Given the description of an element on the screen output the (x, y) to click on. 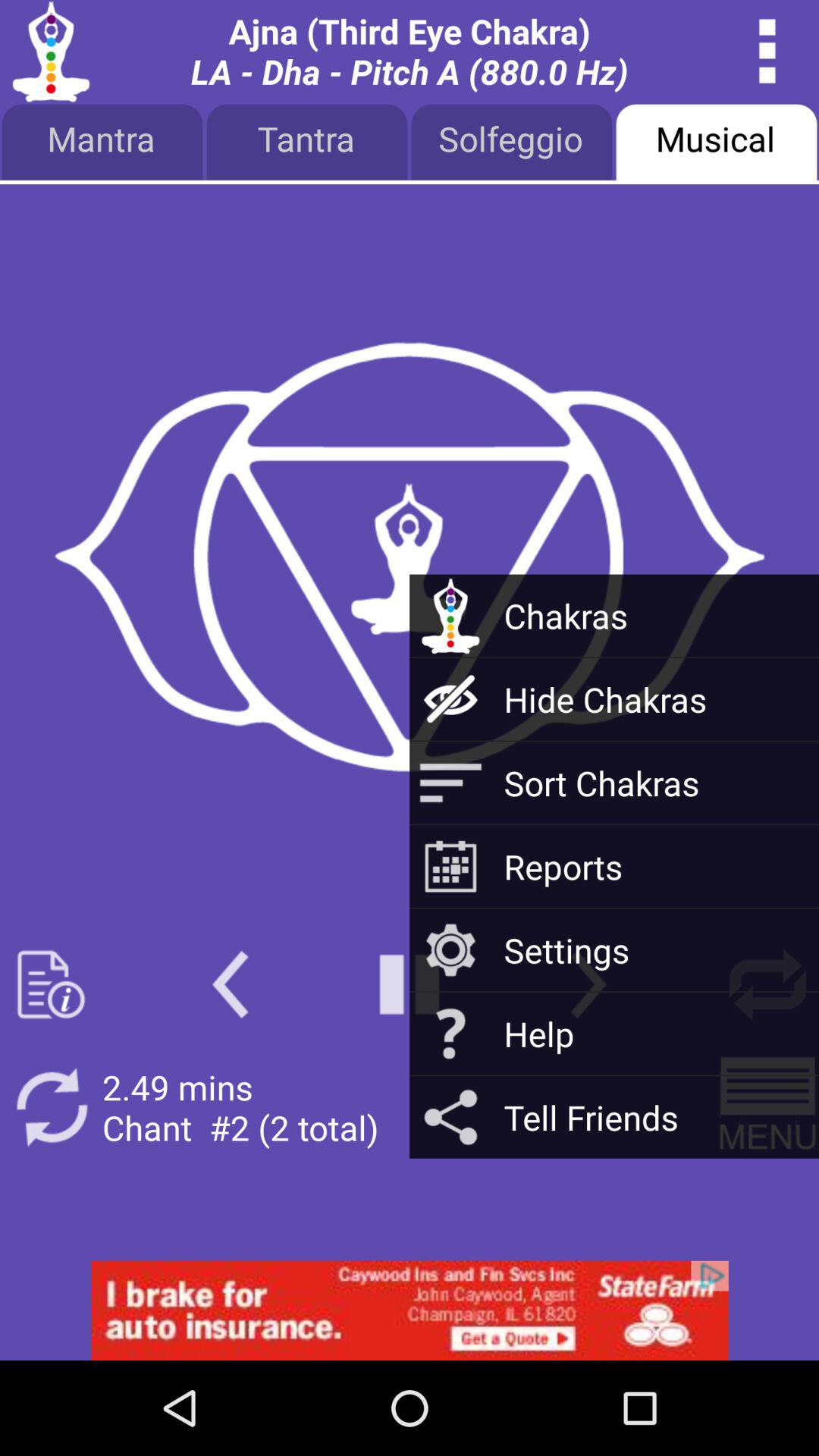
more details (767, 51)
